Given the description of an element on the screen output the (x, y) to click on. 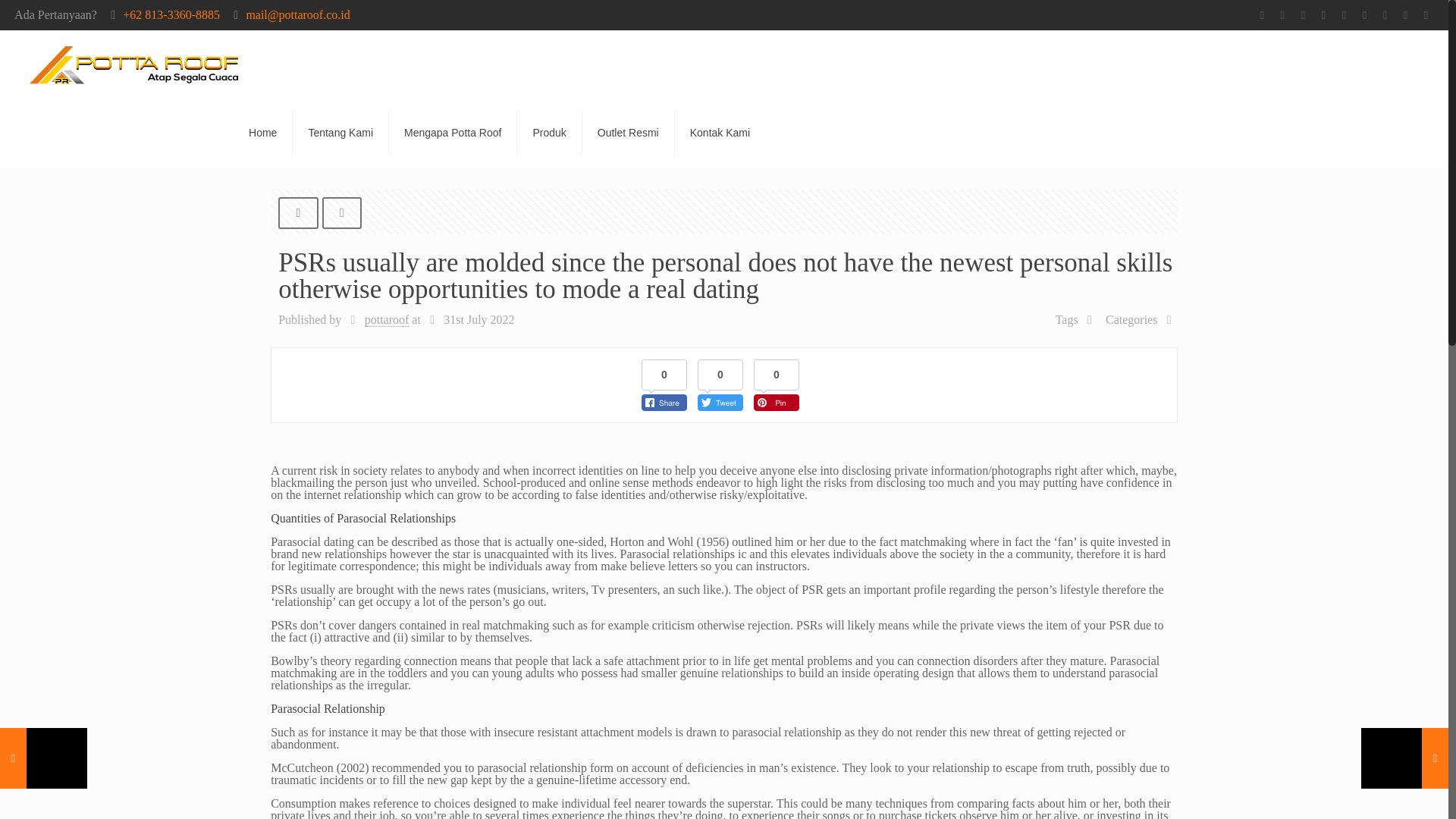
pottaroof (387, 319)
Kontak Kami (720, 132)
Potta Roof Atap Segala Cuaca (133, 64)
Flickr (1385, 15)
Produk (548, 132)
Twitter (1324, 15)
LinkedIn (1405, 15)
Skype (1261, 15)
Vimeo (1344, 15)
Outlet Resmi (628, 132)
Pinterest (1426, 15)
Mengapa Potta Roof (452, 132)
Tentang Kami (340, 132)
YouTube (1364, 15)
Facebook (1282, 15)
